Given the description of an element on the screen output the (x, y) to click on. 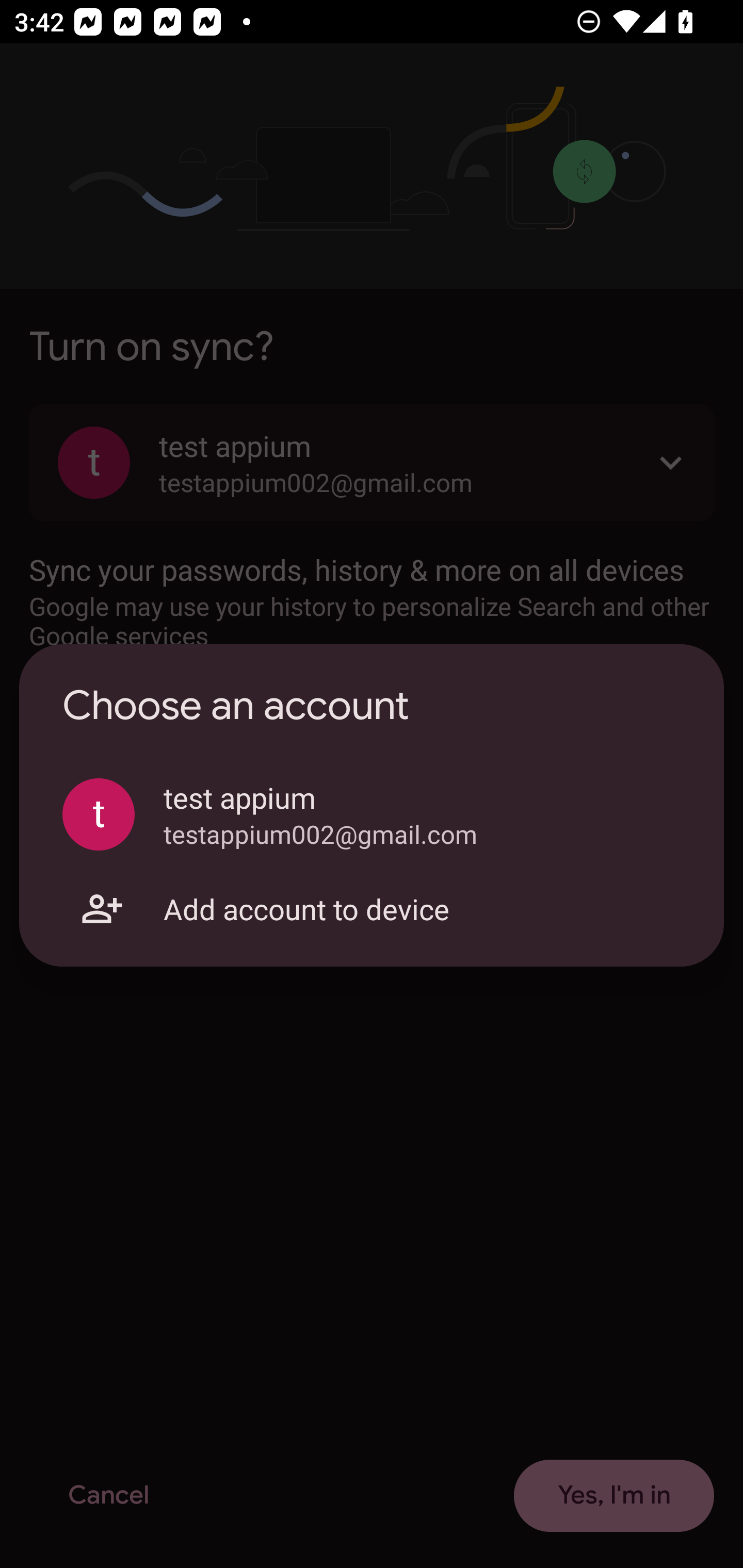
Add account to device (371, 908)
